Given the description of an element on the screen output the (x, y) to click on. 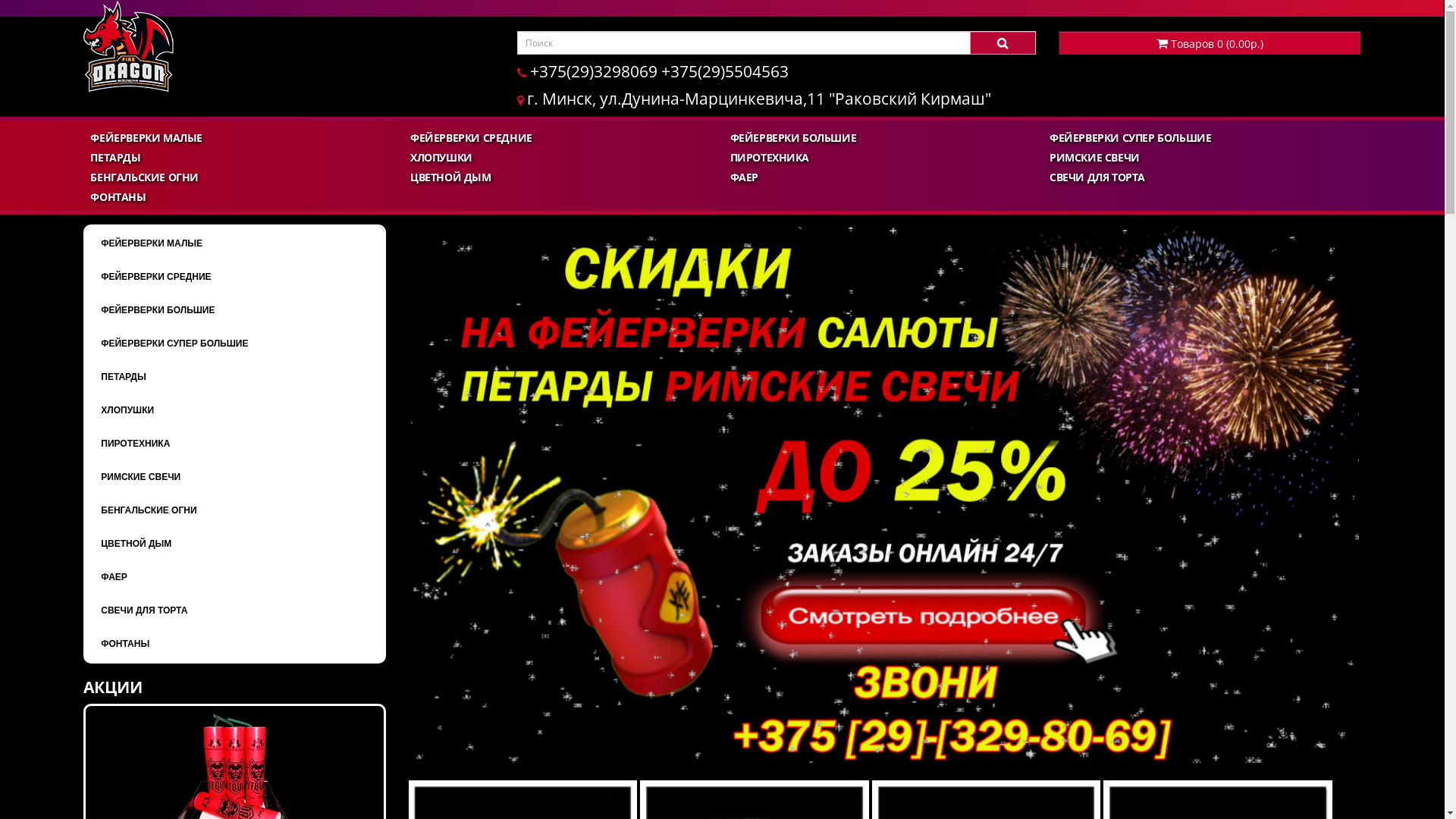
+375(29)3298069 +375(29)5504563 Element type: text (652, 72)
